Given the description of an element on the screen output the (x, y) to click on. 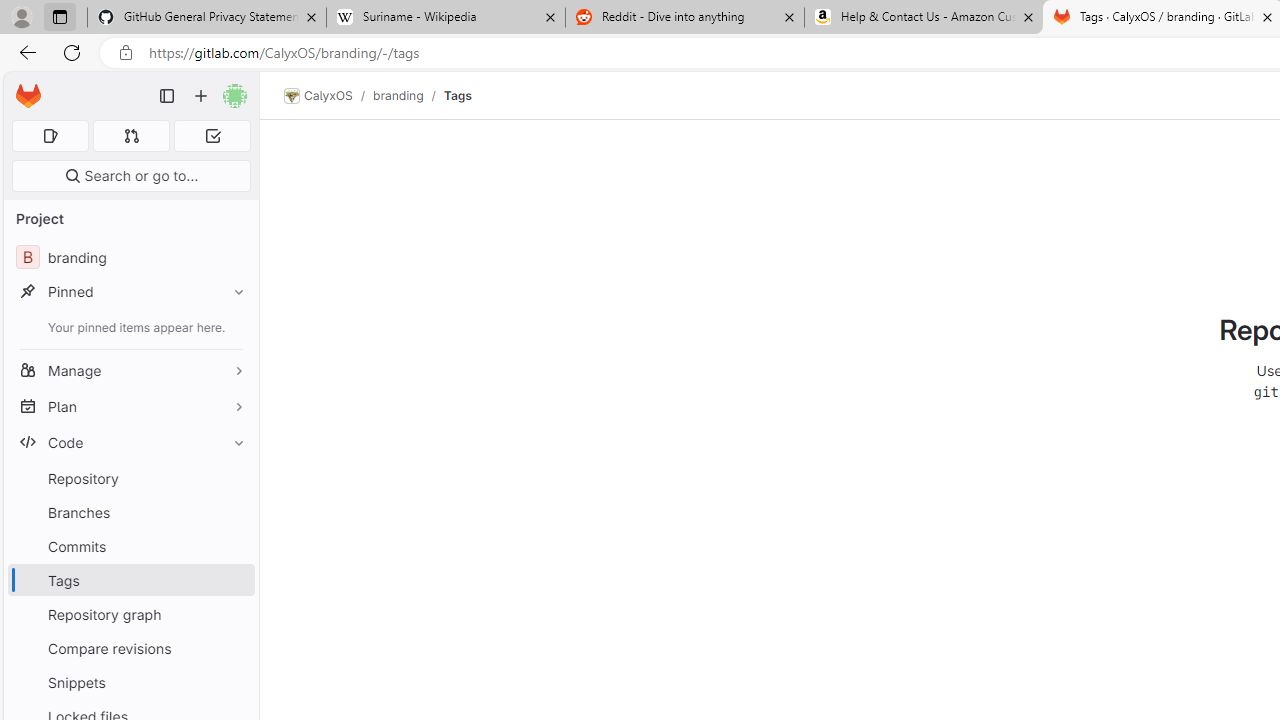
Primary navigation sidebar (167, 96)
Tags (457, 95)
Pin Repository graph (234, 614)
Pin Compare revisions (234, 647)
B branding (130, 257)
Pin Snippets (234, 682)
